Given the description of an element on the screen output the (x, y) to click on. 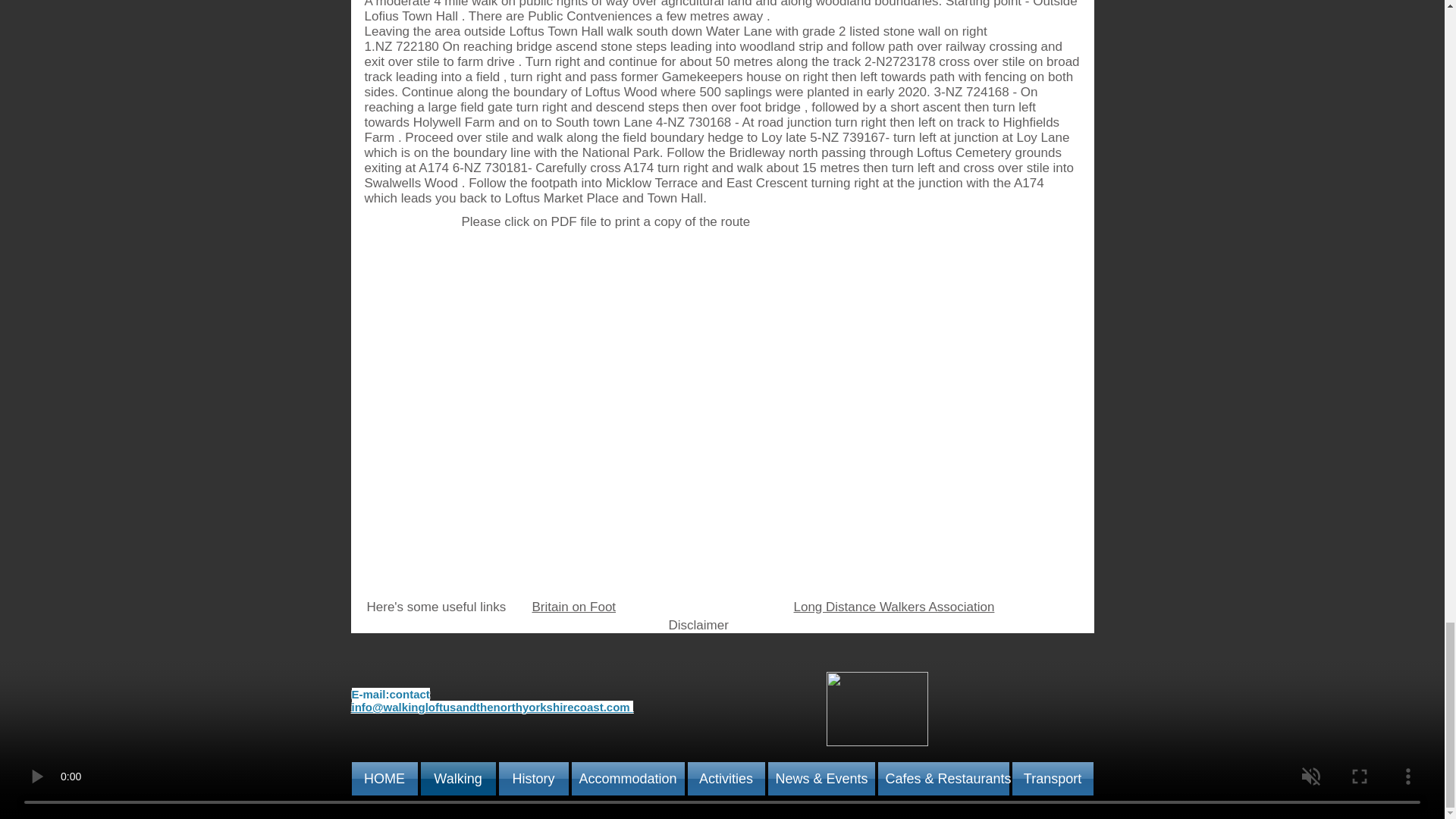
HOME (385, 778)
Long Distance Walkers Association (893, 606)
Walking (457, 778)
Britain on Foot (573, 606)
